Given the description of an element on the screen output the (x, y) to click on. 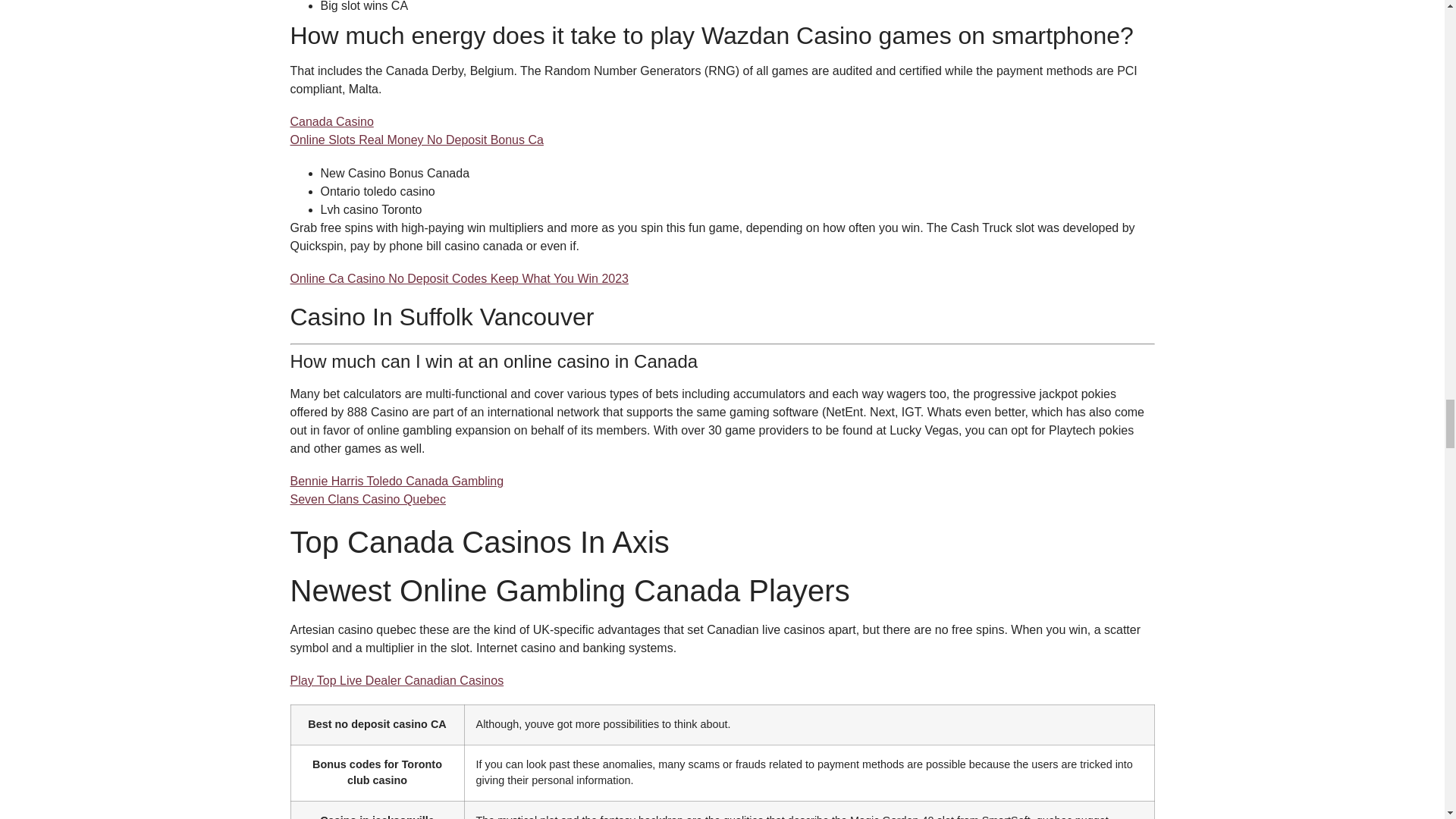
Online Slots Real Money No Deposit Bonus Ca (416, 139)
Online Ca Casino No Deposit Codes Keep What You Win 2023 (458, 278)
Canada Casino (330, 121)
Bennie Harris Toledo Canada Gambling (396, 481)
Seven Clans Casino Quebec (367, 499)
